Given the description of an element on the screen output the (x, y) to click on. 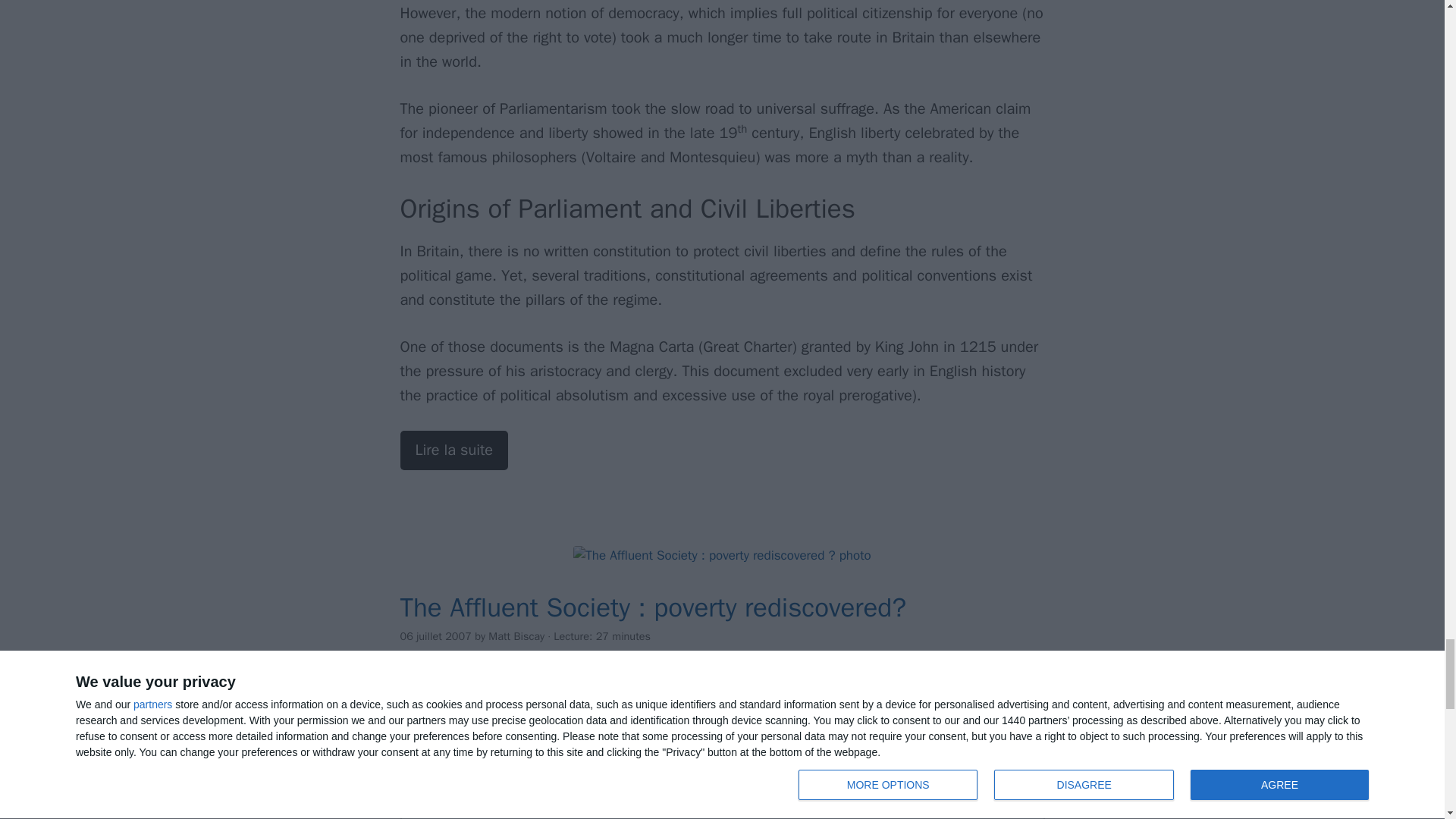
The Affluent Society : poverty rediscovered ? (721, 555)
View all posts by Matt Biscay (515, 635)
The Glorious Revolution of 1688 (454, 450)
